Given the description of an element on the screen output the (x, y) to click on. 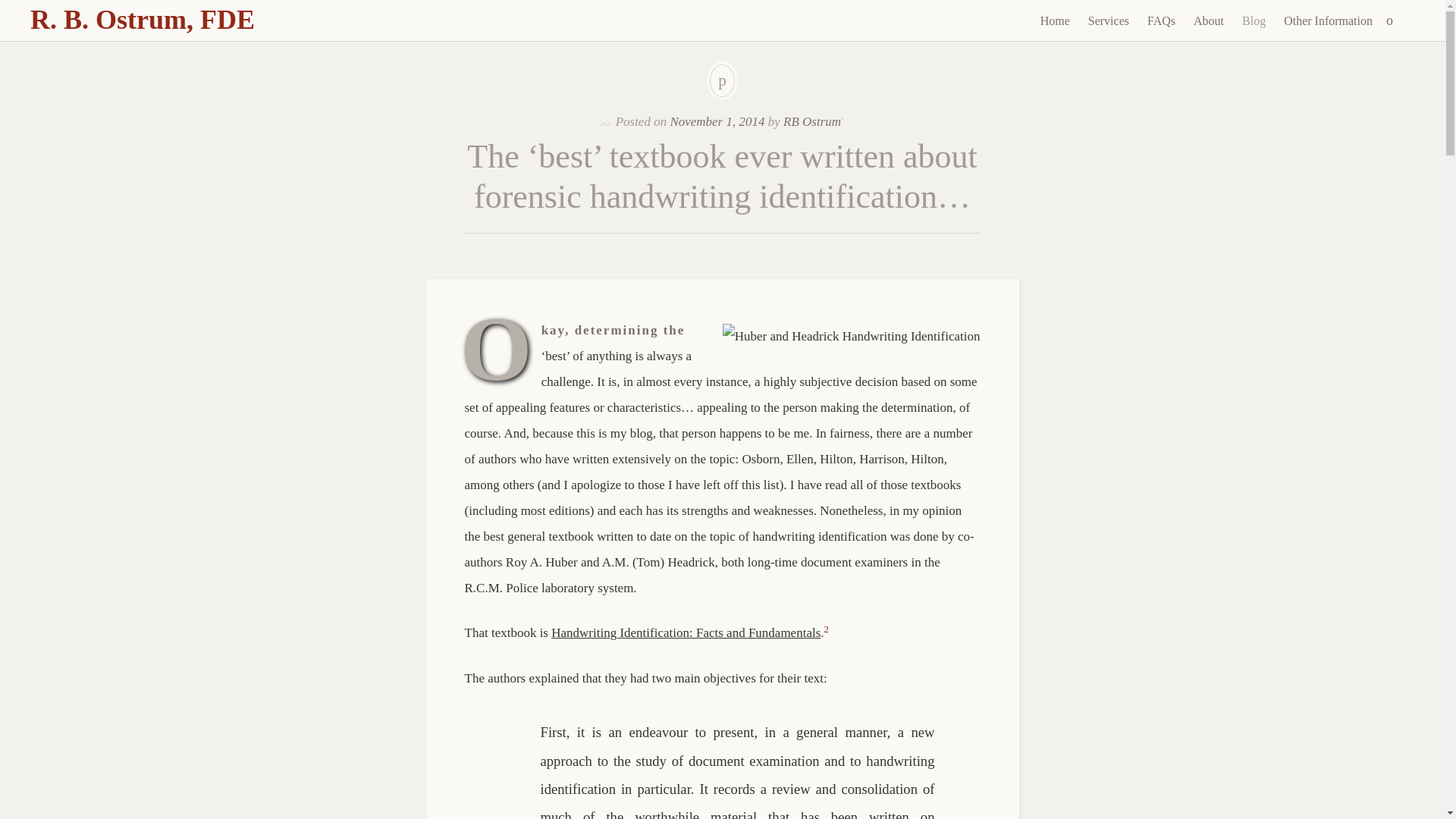
R. B. Ostrum, FDE (142, 19)
RB Ostrum (812, 120)
Other Information (1328, 21)
November 1, 2014 (716, 120)
Blog (1253, 21)
Skip to content (1043, 44)
R. B. Ostrum, FDE (142, 19)
FAQs (1161, 21)
Services (1108, 21)
About (1208, 21)
Search (11, 9)
Home (1054, 21)
2 (826, 632)
Skip to content (1043, 44)
